Given the description of an element on the screen output the (x, y) to click on. 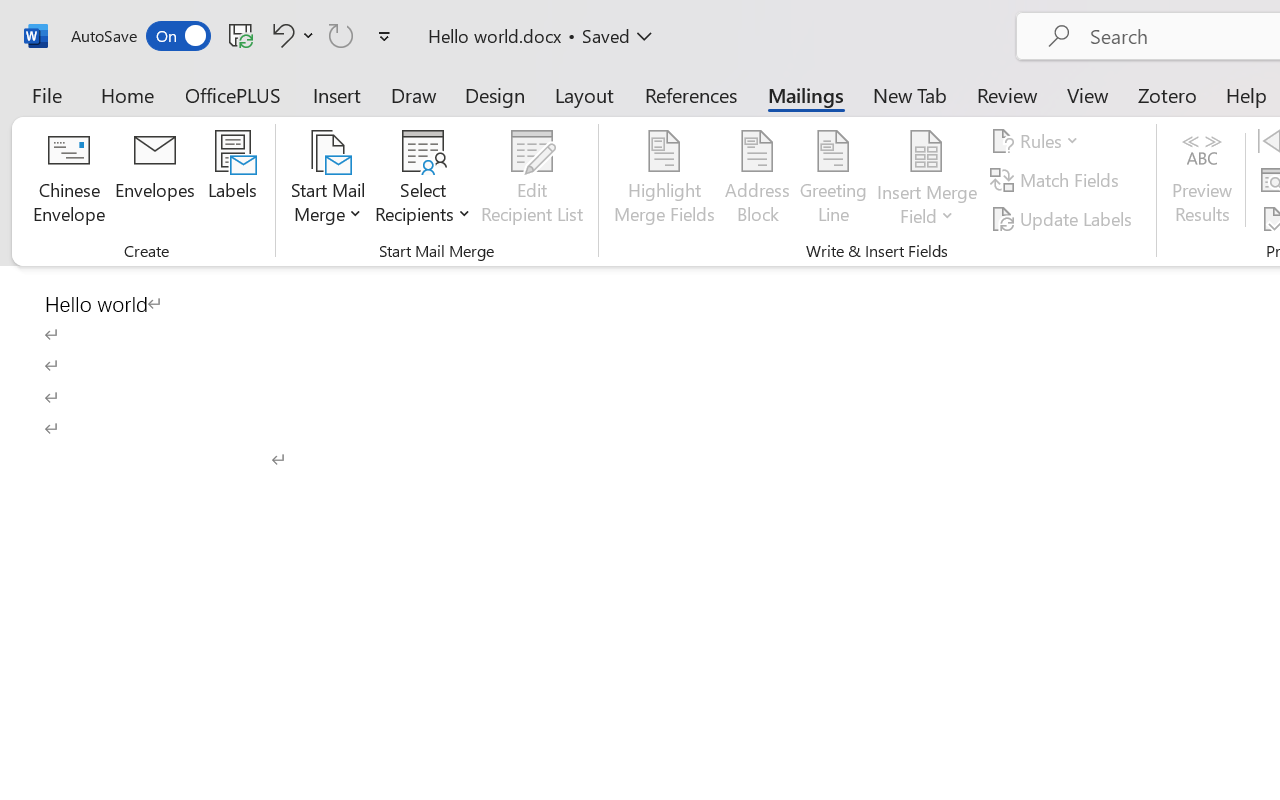
References (690, 94)
Undo Click and Type Formatting (290, 35)
New Tab (909, 94)
Edit Recipient List... (532, 179)
View (1087, 94)
OfficePLUS (233, 94)
Can't Repeat (341, 35)
More Options (927, 208)
Chinese Envelope... (68, 179)
Highlight Merge Fields (664, 179)
Mailings (806, 94)
Address Block... (757, 179)
Greeting Line... (833, 179)
Design (495, 94)
